Given the description of an element on the screen output the (x, y) to click on. 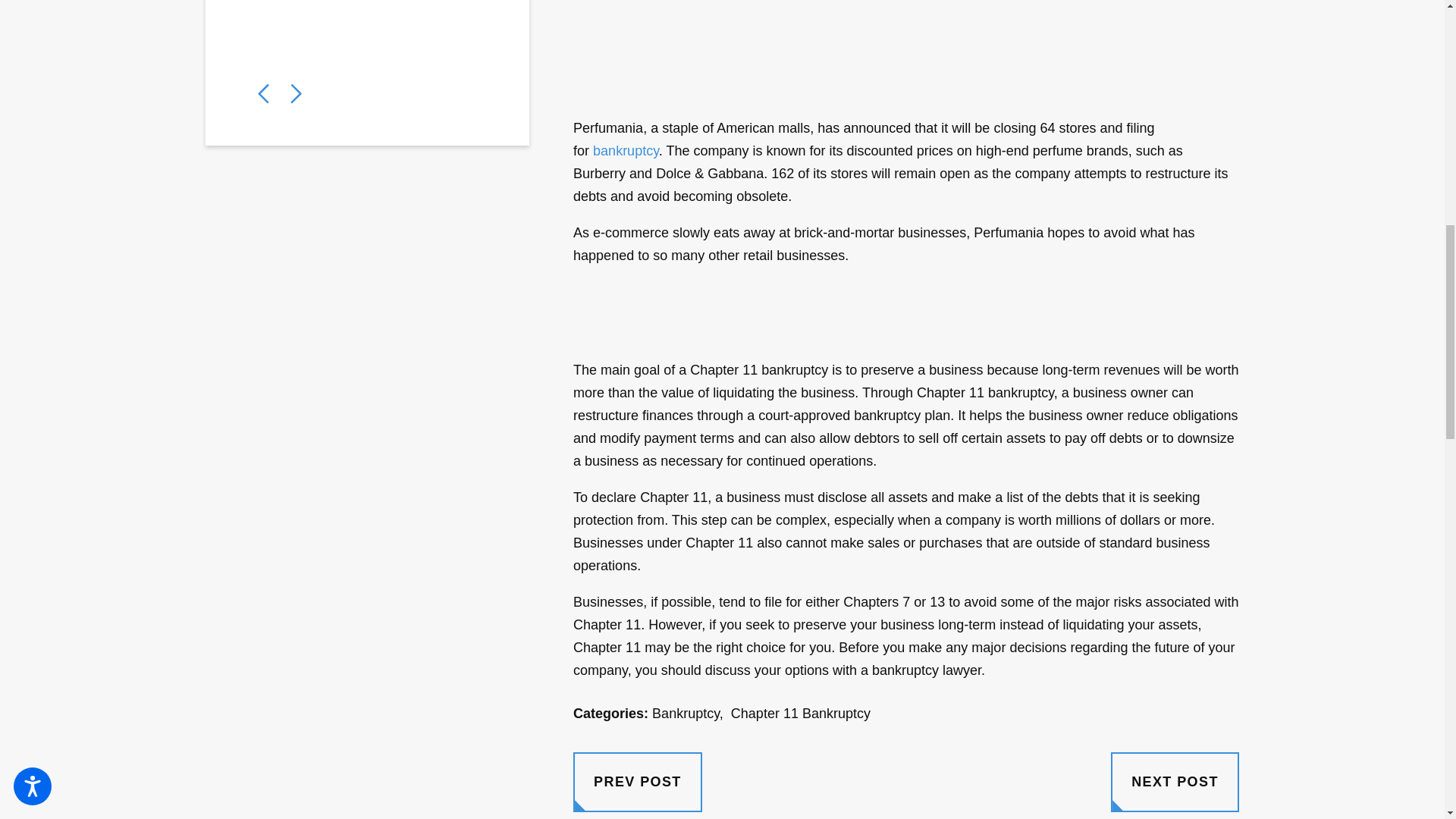
bankruptcy (625, 150)
View next item (295, 93)
View previous item (263, 93)
